Given the description of an element on the screen output the (x, y) to click on. 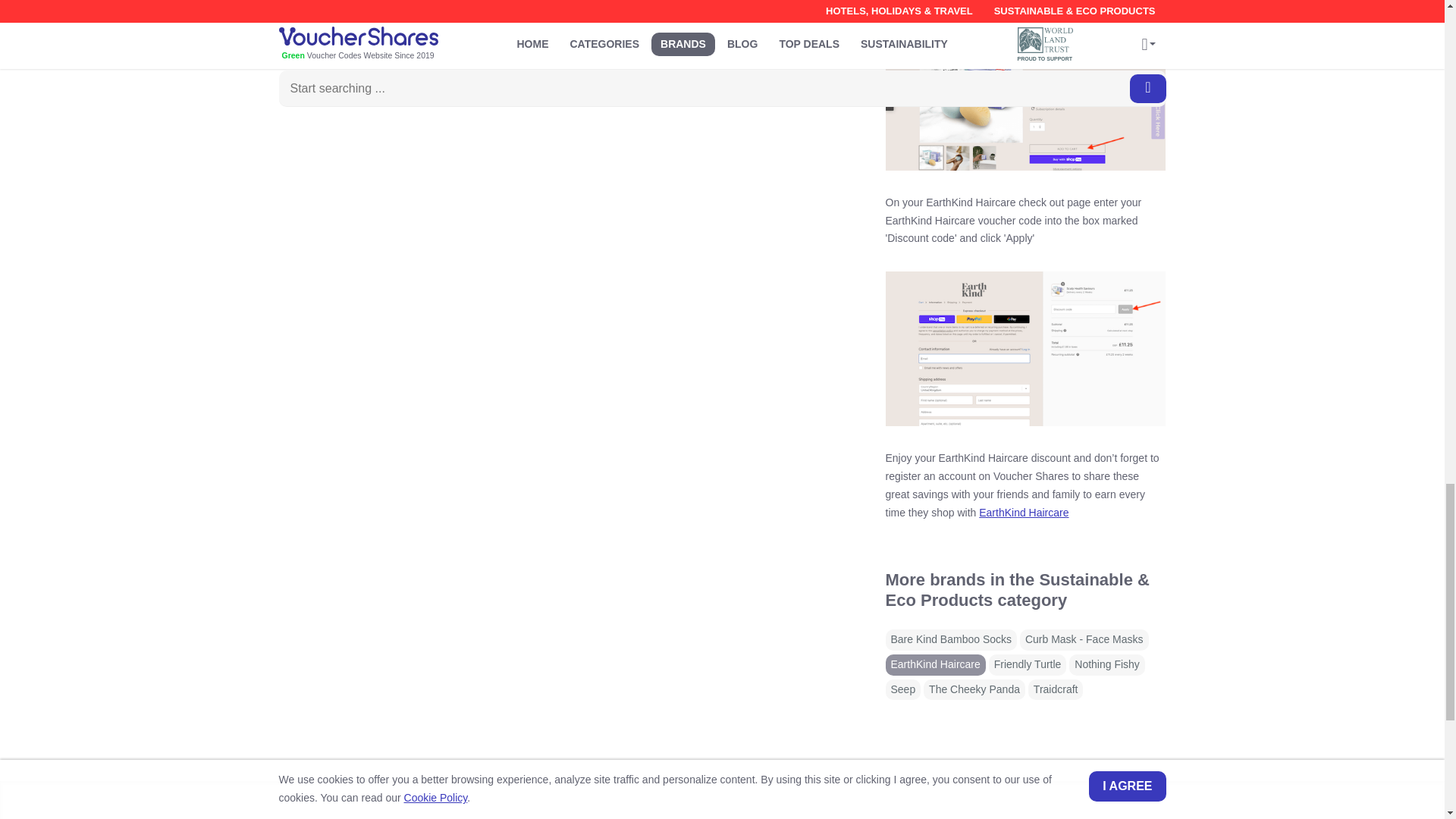
Bare Kind Bamboo Socks (951, 639)
EarthKind Haircare (1023, 512)
Curb Mask - Face Masks (1084, 639)
